Given the description of an element on the screen output the (x, y) to click on. 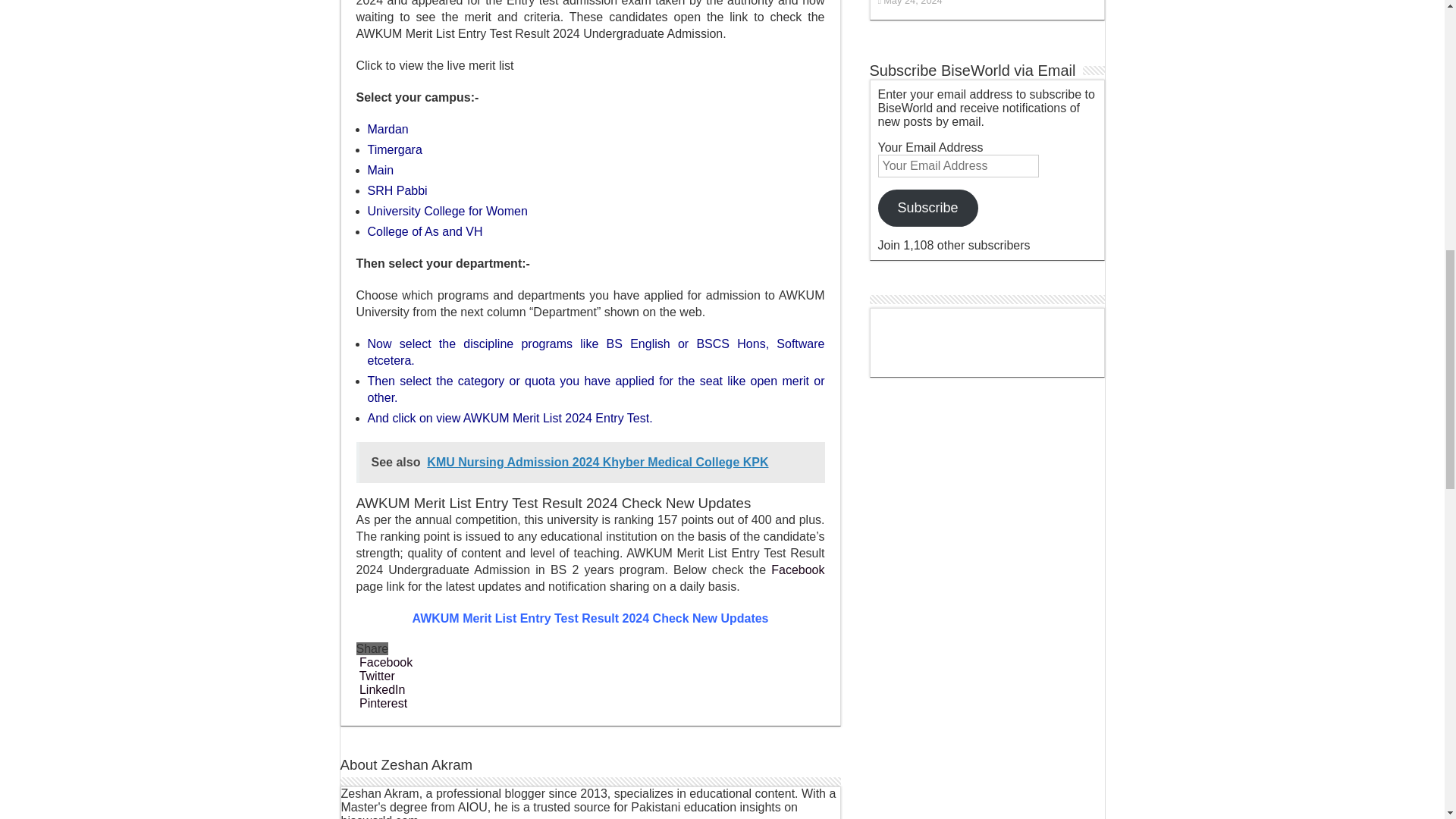
Facebook (384, 662)
LinkedIn (381, 689)
AWKUM Merit List Entry Test Result Check New Updates (590, 617)
Pinterest (381, 703)
Twitter (375, 675)
AWKUM Merit List Entry Test Result 2024 Check New Updates (590, 617)
Facebook (797, 569)
